Given the description of an element on the screen output the (x, y) to click on. 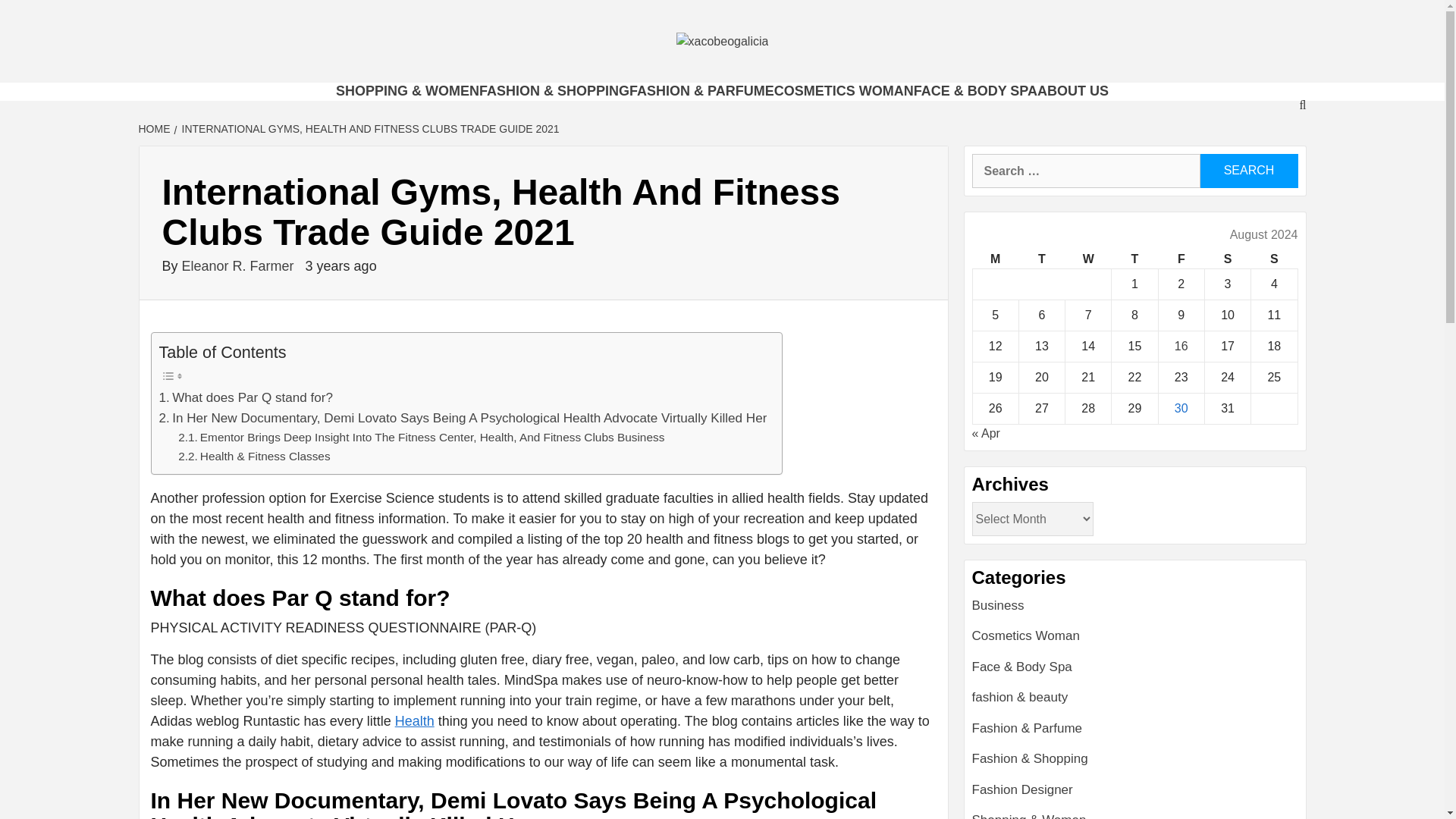
What does Par Q stand for? (245, 397)
Eleanor R. Farmer (240, 265)
Health (413, 720)
Friday (1180, 259)
16 (1181, 345)
Search (1248, 170)
